Given the description of an element on the screen output the (x, y) to click on. 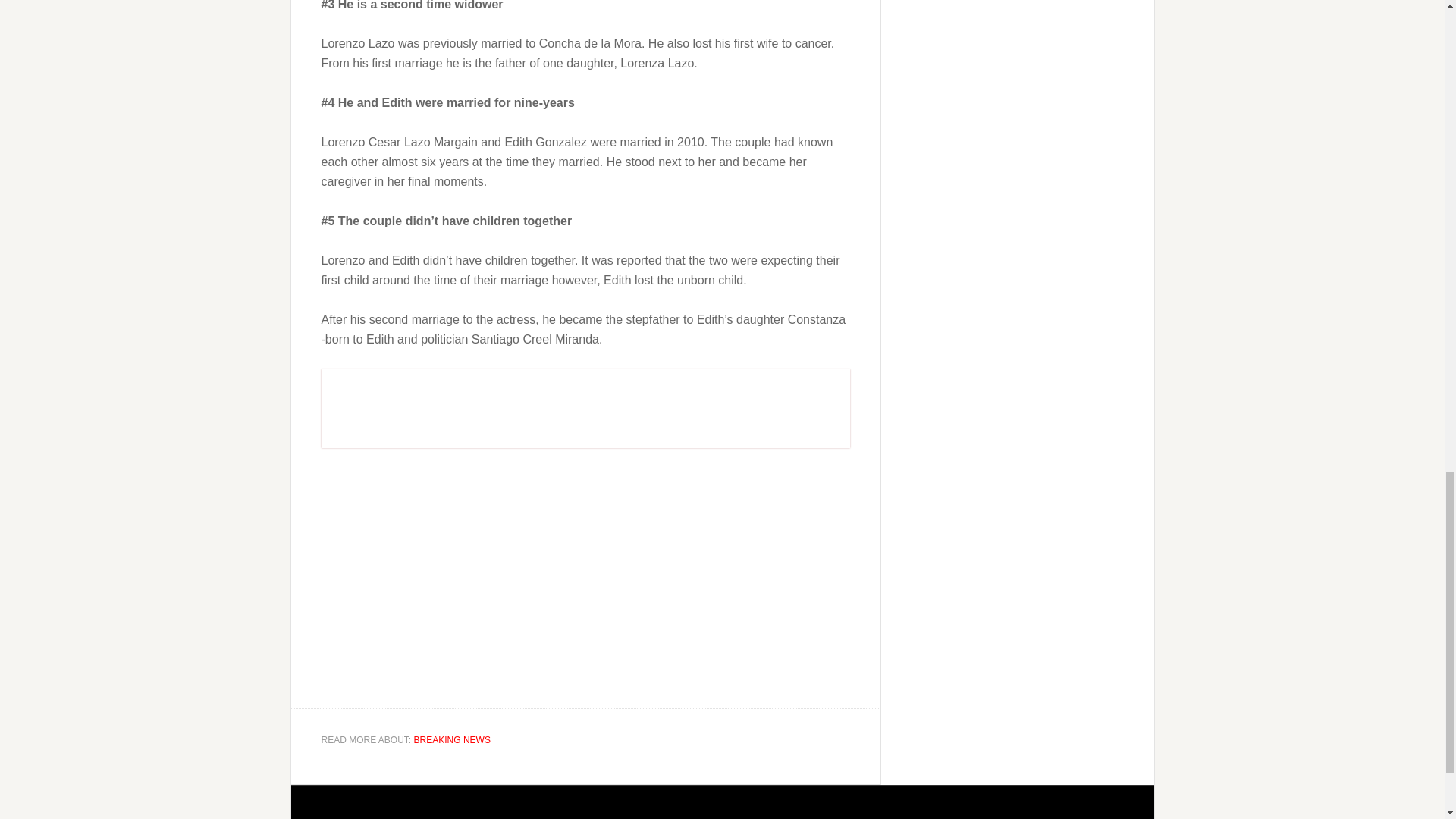
BREAKING NEWS (451, 739)
